Given the description of an element on the screen output the (x, y) to click on. 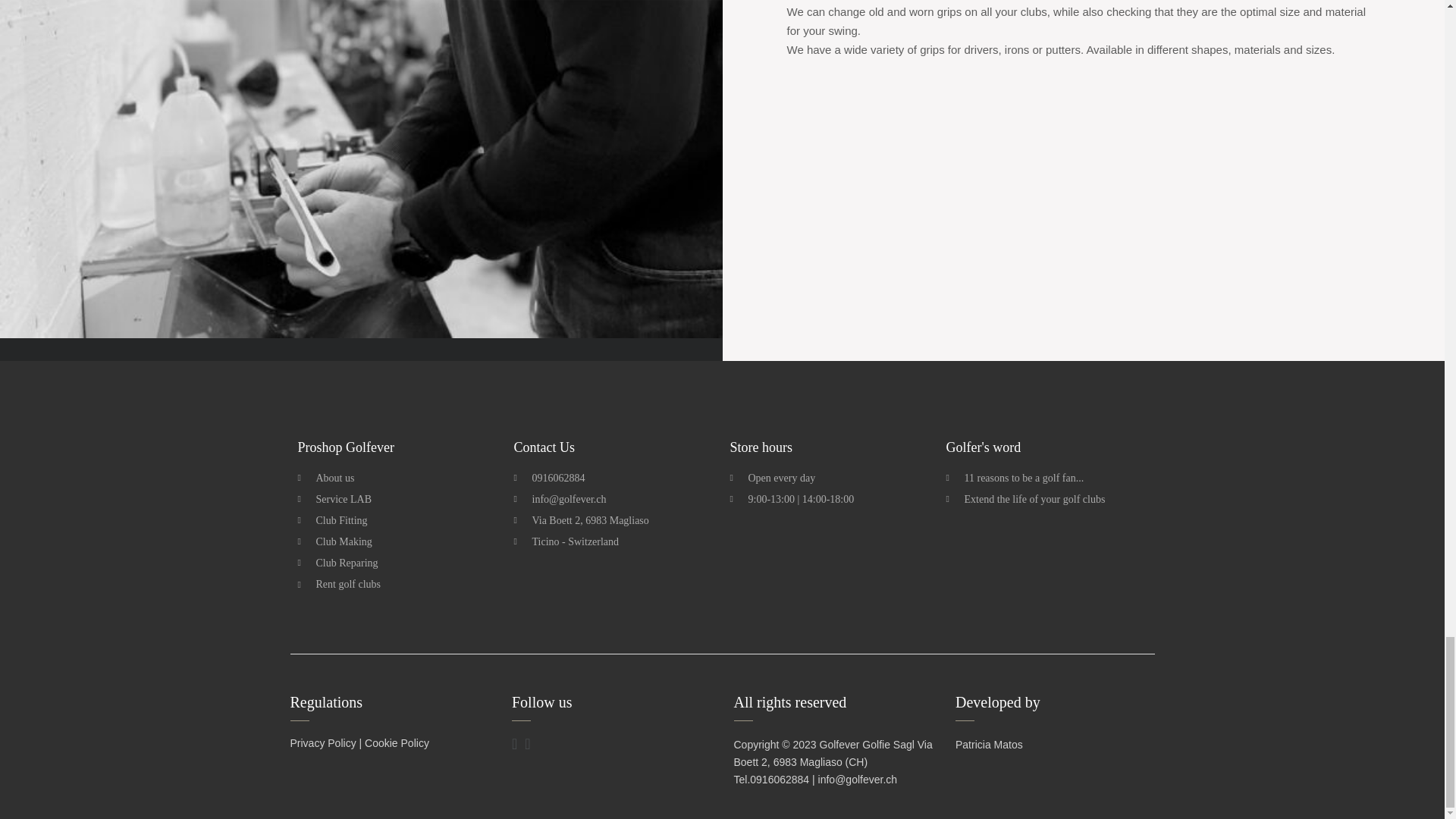
Club Making (397, 541)
Club Reparing (397, 562)
Rent golf clubs (397, 583)
Privacy Policy  (322, 743)
Cookie Policy  (397, 743)
About us (397, 477)
Service LAB (397, 498)
Extend the life of your golf clubs (1046, 498)
Club Fitting (397, 520)
11 reasons to be a golf fan... (1046, 477)
